Given the description of an element on the screen output the (x, y) to click on. 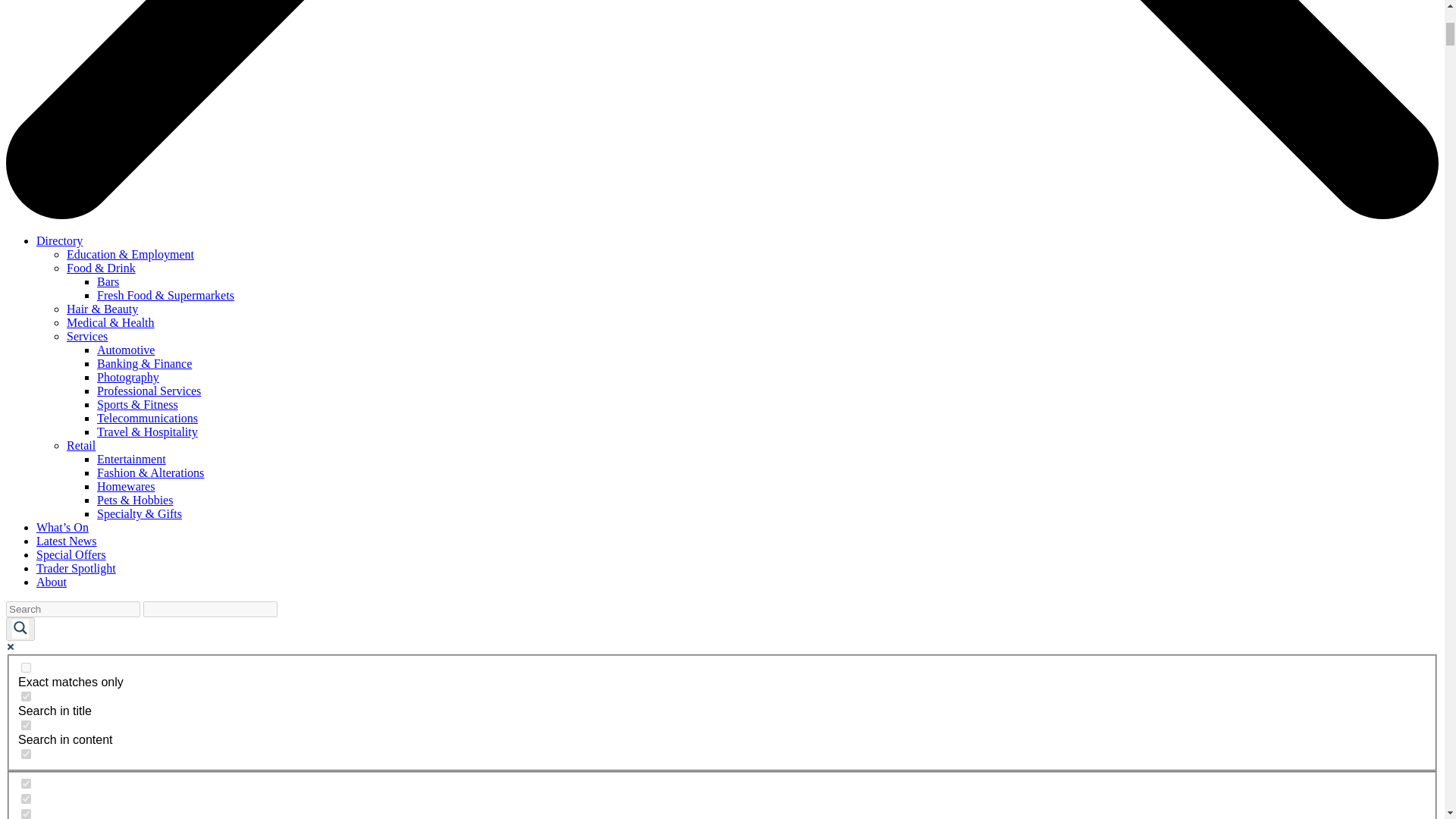
offers (25, 798)
Bars (108, 281)
Telecommunications (147, 418)
exact (25, 667)
Special Offers (71, 554)
Automotive (125, 349)
About (51, 581)
Start search (287, 603)
title (25, 696)
post (25, 783)
Entertainment (131, 459)
Services (86, 336)
content (25, 725)
Latest News (66, 540)
Retail (81, 445)
